Given the description of an element on the screen output the (x, y) to click on. 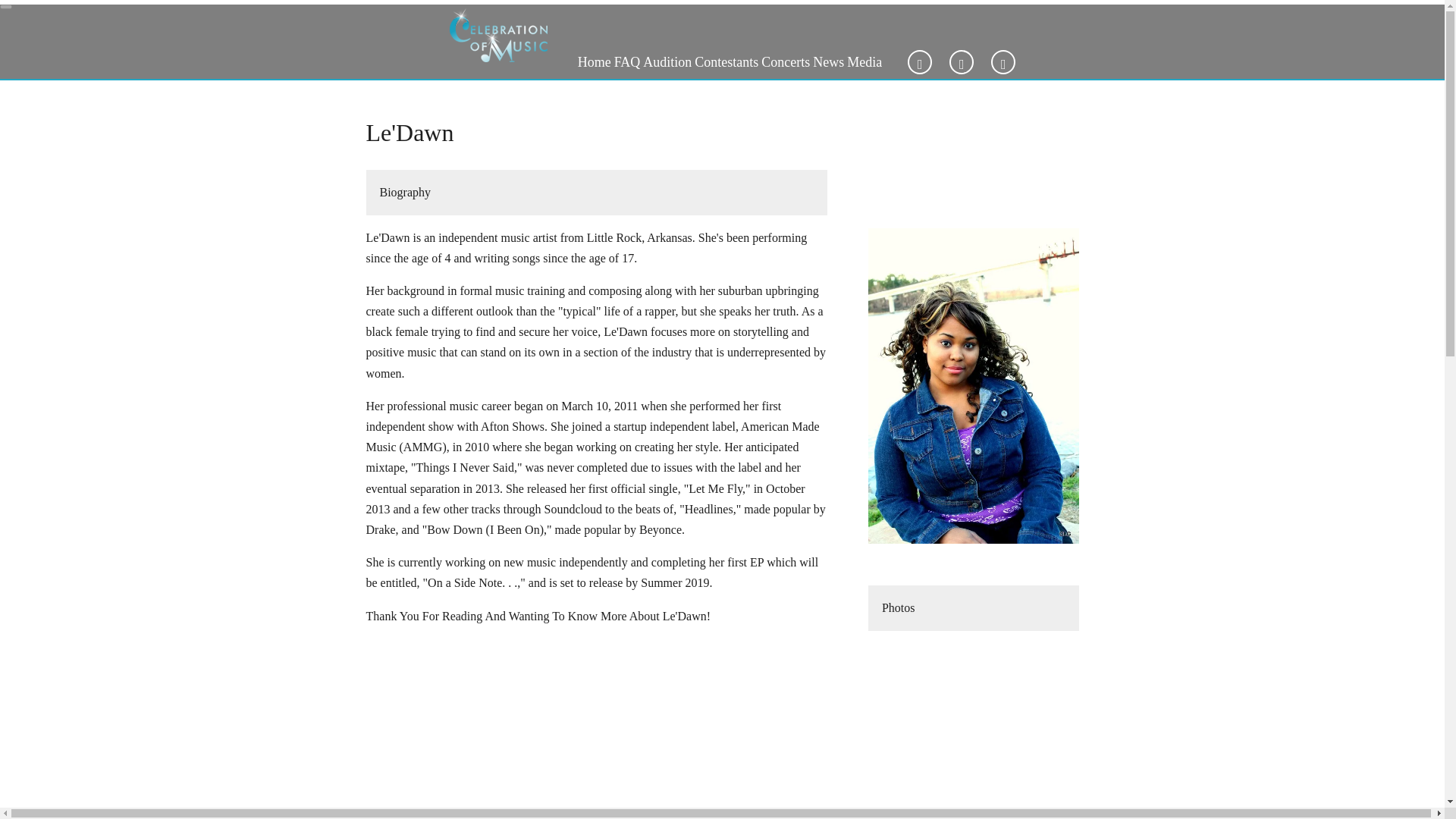
Contestants (726, 61)
FAQ (627, 61)
Home (594, 61)
Audition (667, 61)
